Given the description of an element on the screen output the (x, y) to click on. 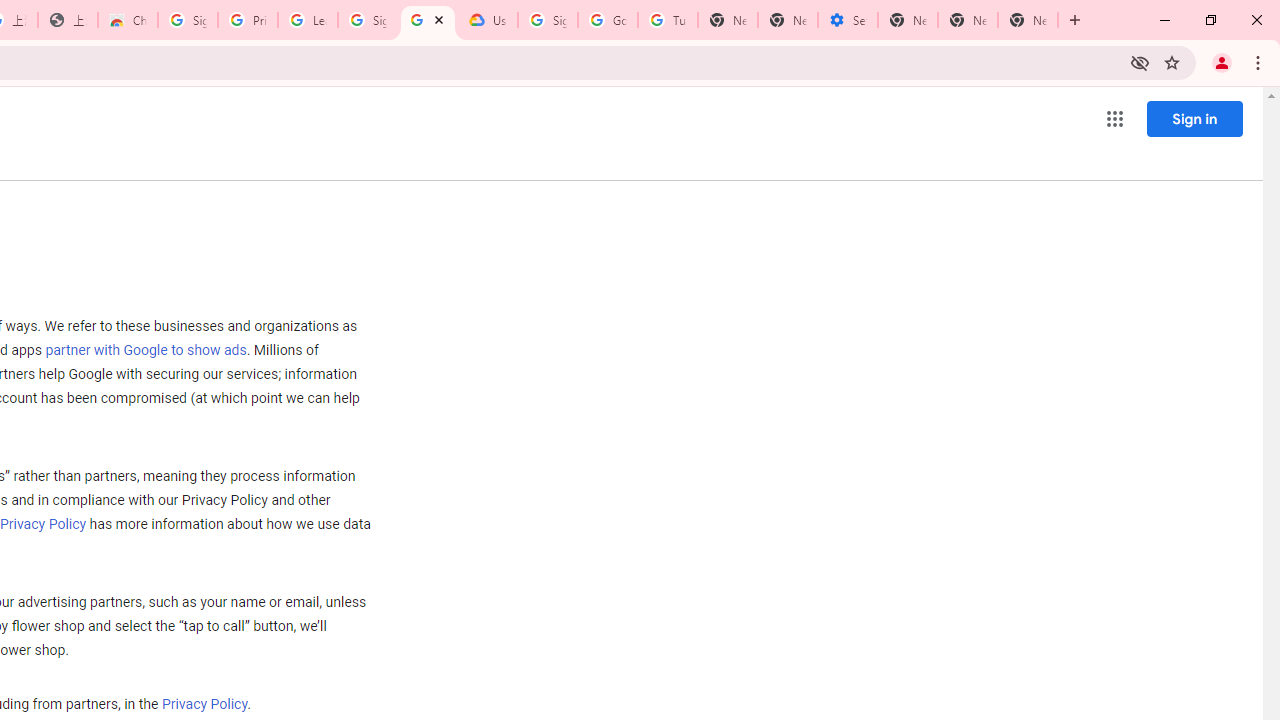
Turn cookies on or off - Computer - Google Account Help (667, 20)
Google Account Help (607, 20)
